Given the description of an element on the screen output the (x, y) to click on. 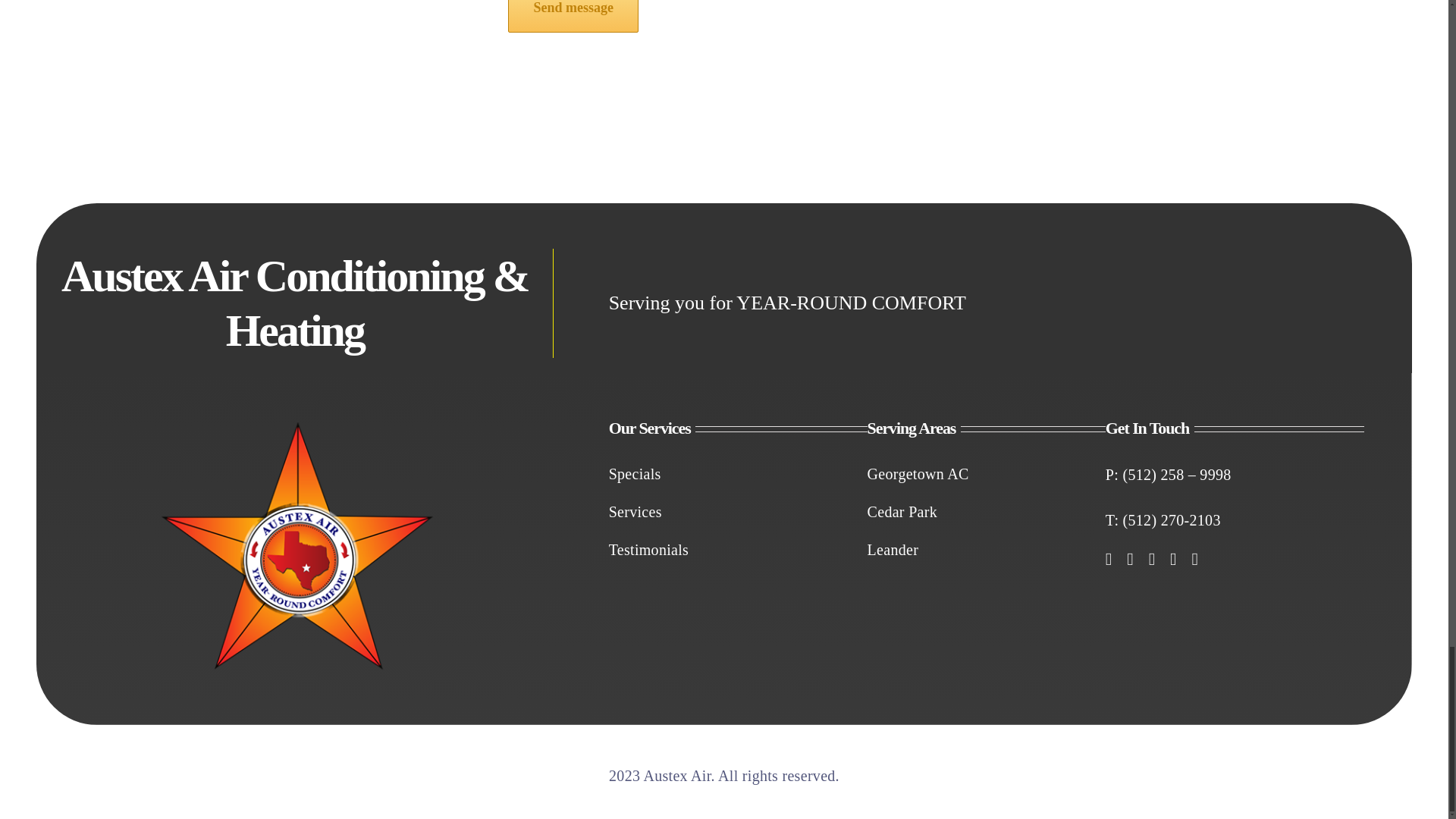
Star (295, 544)
